Given the description of an element on the screen output the (x, y) to click on. 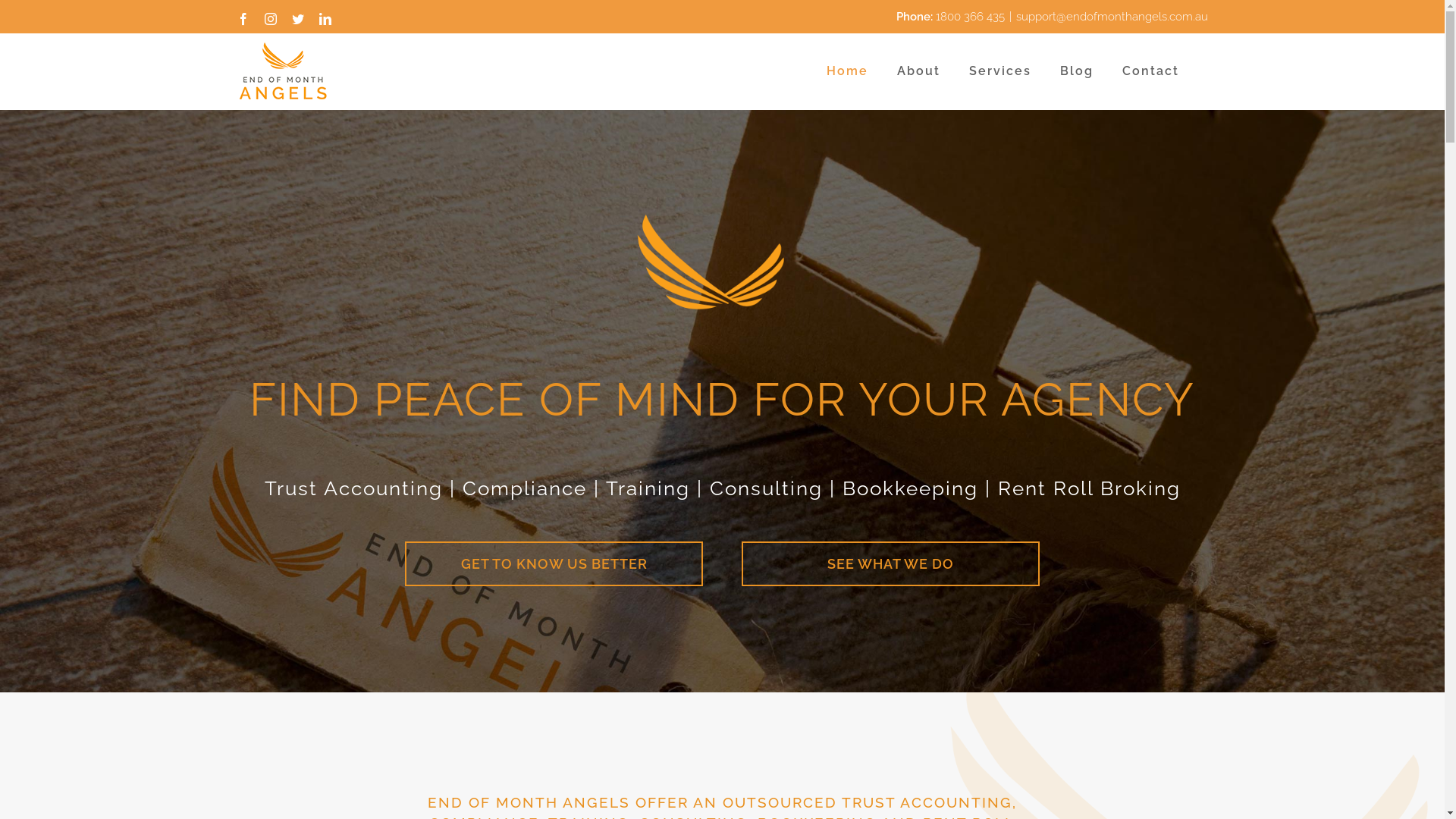
SEE WHAT WE DO Element type: text (890, 563)
Facebook Element type: text (242, 18)
Services Element type: text (1000, 71)
Home Element type: text (847, 71)
LinkedIn Element type: text (324, 18)
Contact Element type: text (1150, 71)
Instagram Element type: text (269, 18)
Blog Element type: text (1076, 71)
GET TO KNOW US BETTER Element type: text (553, 563)
support@endofmonthangels.com.au Element type: text (1112, 15)
About Element type: text (917, 71)
Animation3 Element type: hover (721, 263)
Twitter Element type: text (297, 18)
